Given the description of an element on the screen output the (x, y) to click on. 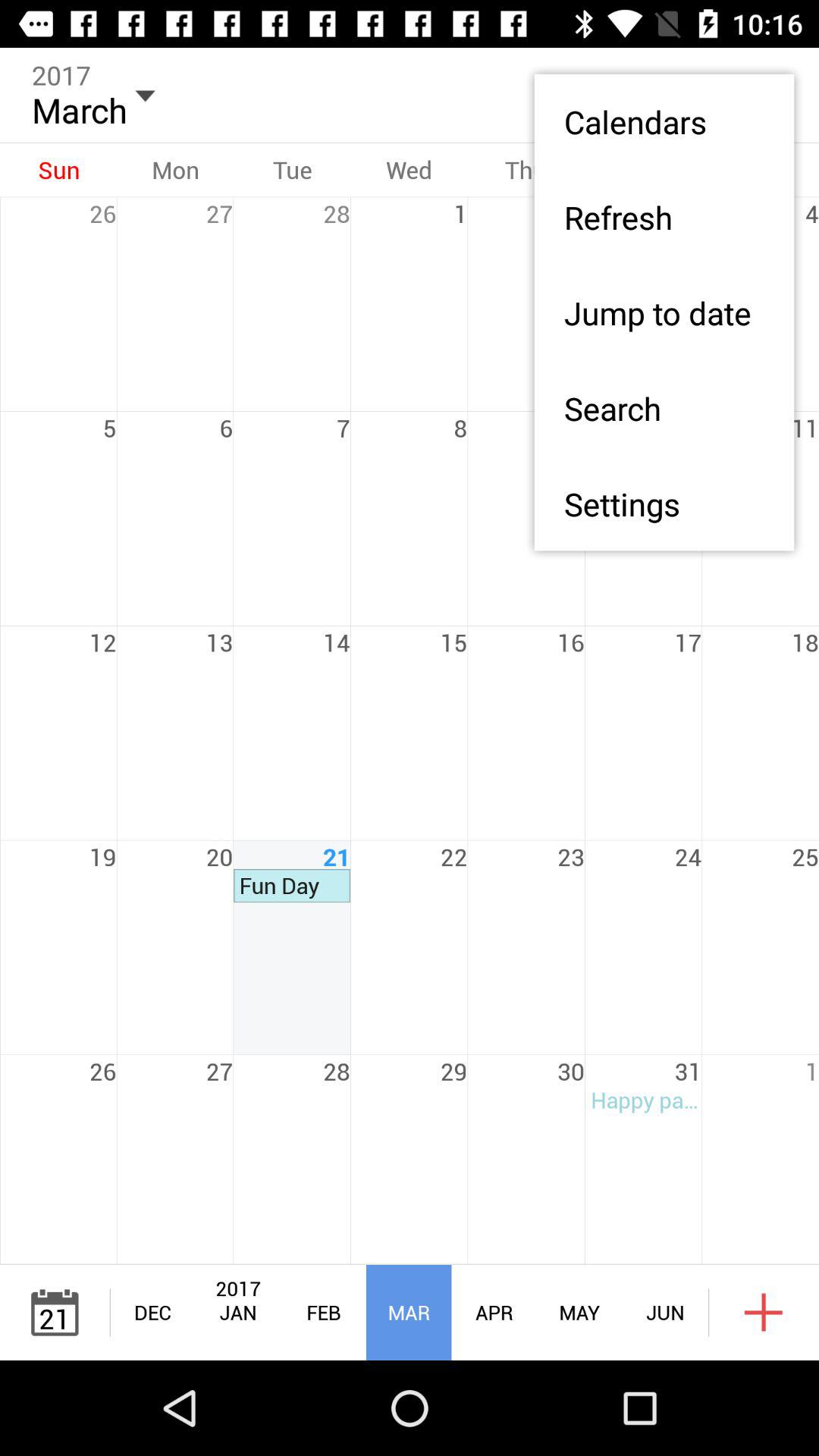
swipe to the calendars icon (664, 121)
